Given the description of an element on the screen output the (x, y) to click on. 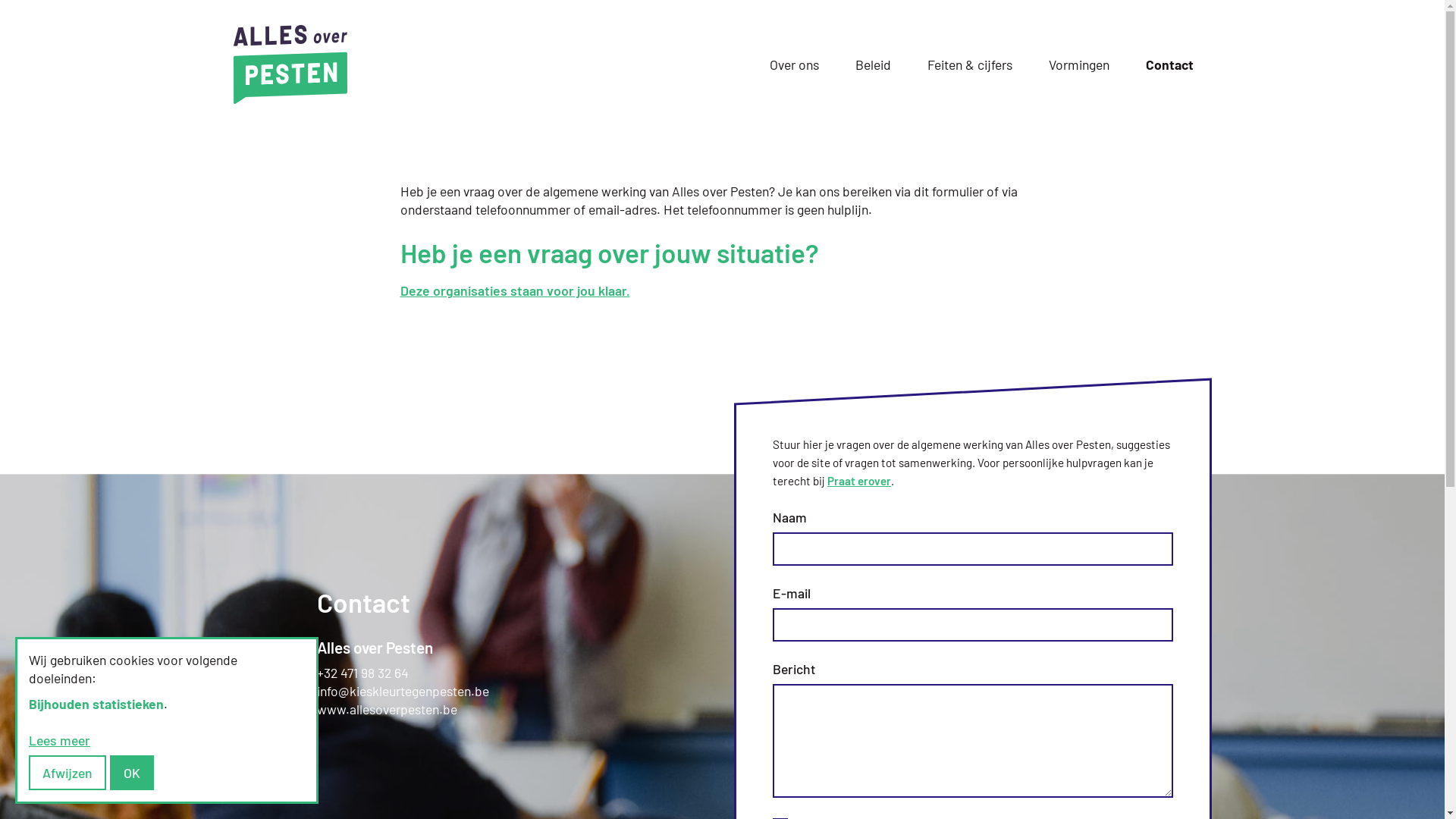
Deze organisaties staan voor jou klaar. Element type: text (515, 290)
Beleid Element type: text (873, 64)
Lees meer Element type: text (59, 740)
Feiten & cijfers Element type: text (968, 64)
Vormingen Element type: text (1078, 64)
Contact Element type: text (1168, 64)
Over ons Element type: text (793, 64)
Praat erover Element type: text (858, 480)
OK Element type: text (131, 772)
Afwijzen Element type: text (67, 772)
